Given the description of an element on the screen output the (x, y) to click on. 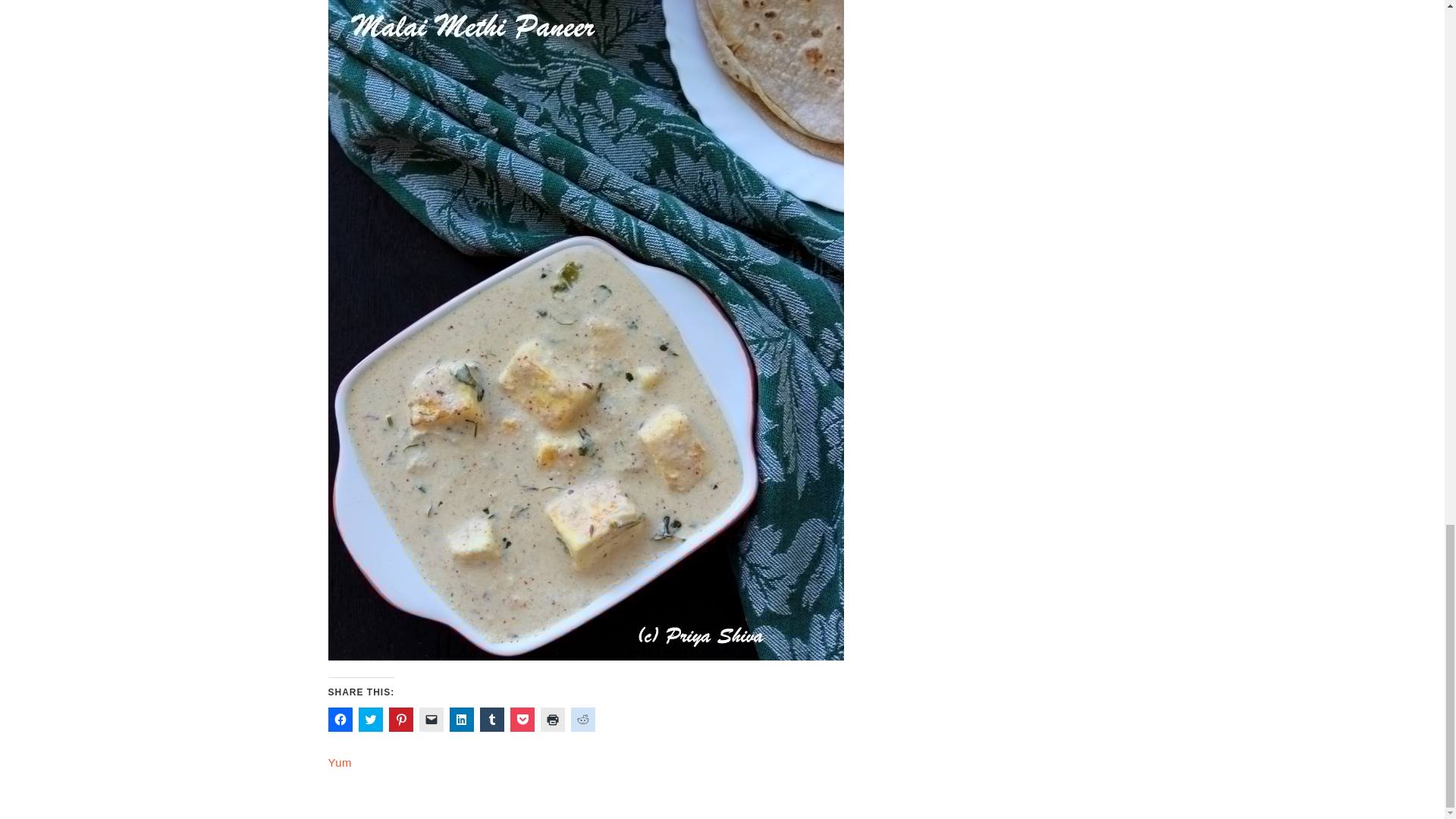
Click to share on Pocket (521, 719)
Click to share on Facebook (339, 719)
Yum (339, 762)
Click to share on Reddit (582, 719)
Click to print (552, 719)
Click to share on Tumblr (491, 719)
Click to share on LinkedIn (460, 719)
Click to share on Pinterest (400, 719)
Click to share on Twitter (369, 719)
Click to email a link to a friend (430, 719)
